Given the description of an element on the screen output the (x, y) to click on. 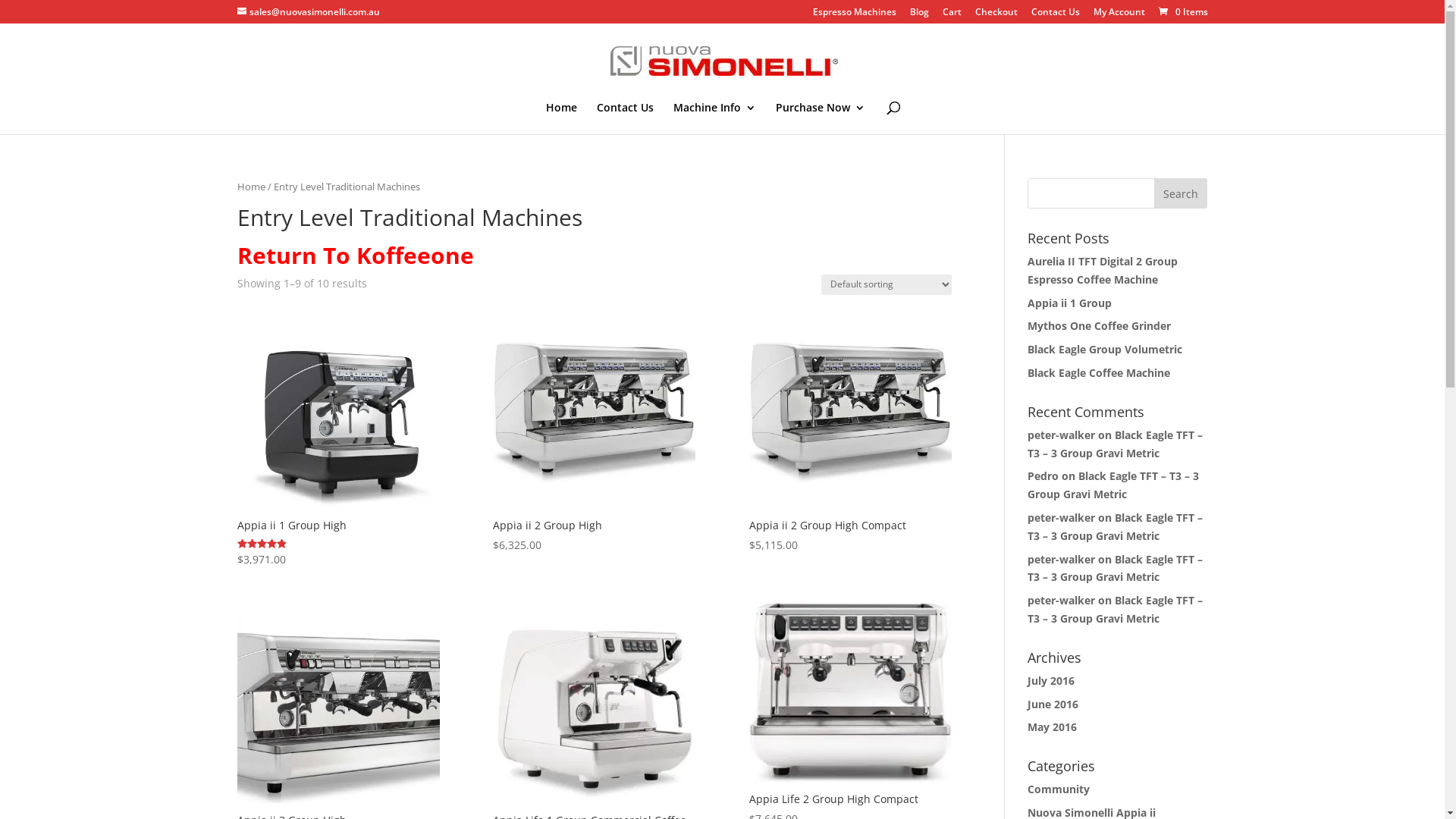
0 Items Element type: text (1181, 11)
Home Element type: text (250, 186)
Appia ii 2 Group High
$6,325.00 Element type: text (593, 429)
Appia ii 1 Group High
Rated
out of 5
$3,971.00 Element type: text (337, 437)
Appia ii 1 Group Element type: text (1069, 302)
sales@nuovasimonelli.com.au Element type: text (307, 11)
Contact Us Element type: text (1055, 15)
Mythos One Coffee Grinder Element type: text (1098, 325)
Return To Koffeeone Element type: text (354, 254)
Search Element type: text (1180, 193)
Aurelia II TFT Digital 2 Group Espresso Coffee Machine Element type: text (1102, 270)
Community Element type: text (1058, 788)
Black Eagle Group Volumetric Element type: text (1104, 349)
Appia ii 2 Group High Compact
$5,115.00 Element type: text (850, 429)
Blog Element type: text (919, 15)
Home Element type: text (561, 118)
July 2016 Element type: text (1050, 680)
Contact Us Element type: text (624, 118)
Black Eagle Coffee Machine Element type: text (1098, 372)
Purchase Now Element type: text (820, 118)
Cart Element type: text (950, 15)
May 2016 Element type: text (1051, 726)
My Account Element type: text (1119, 15)
Espresso Machines Element type: text (854, 15)
Checkout Element type: text (996, 15)
Machine Info Element type: text (714, 118)
June 2016 Element type: text (1052, 703)
